Given the description of an element on the screen output the (x, y) to click on. 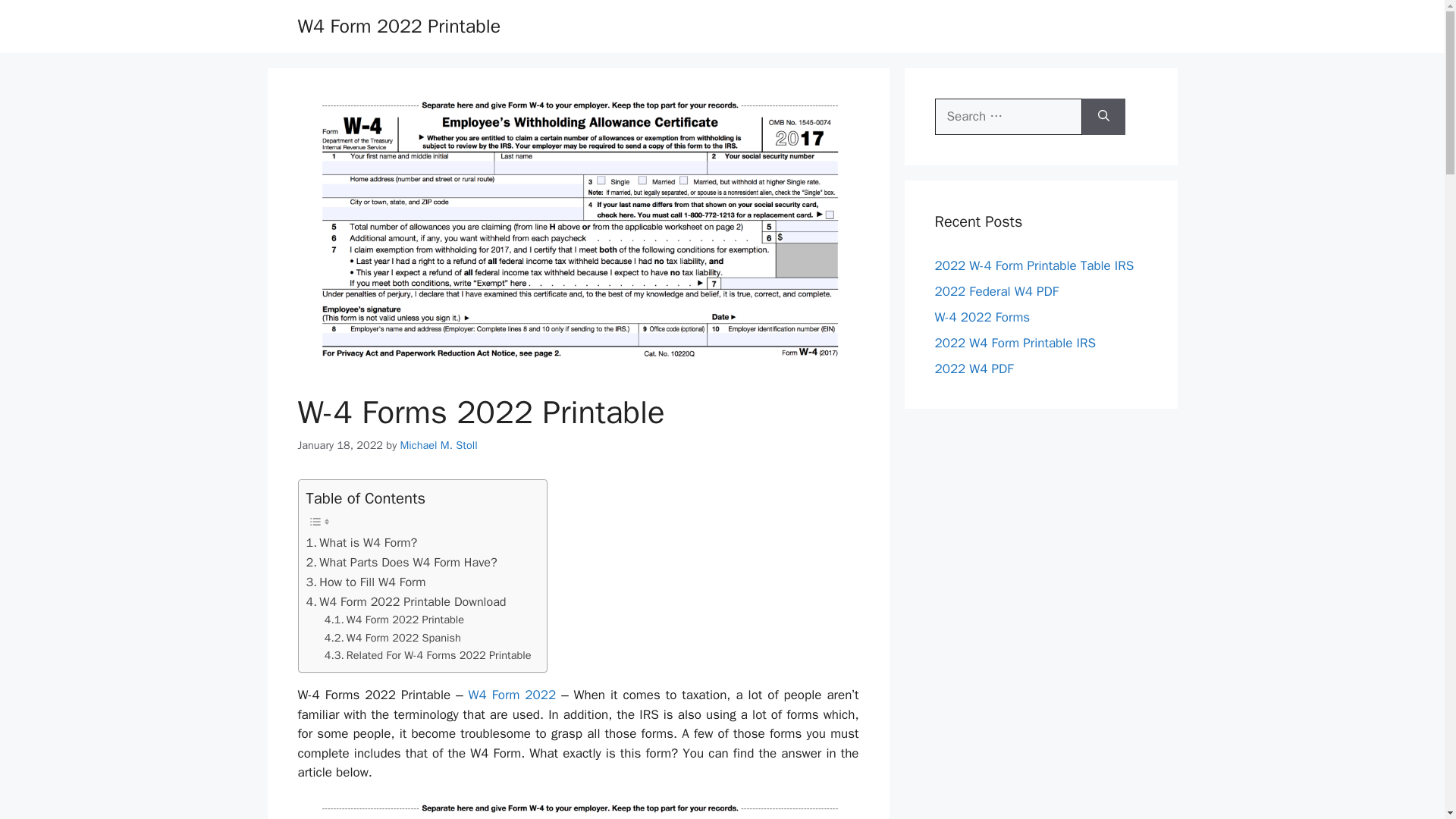
Michael M. Stoll (438, 445)
What is W4 Form? (361, 542)
W4 Form 2022 Spanish (392, 638)
W4 Form 2022 Printable Download (405, 601)
W4 Form 2022 Spanish (392, 638)
What is W4 Form? (361, 542)
W4 Form 2022 Printable (398, 25)
W4 Form 2022 Printable (394, 619)
2022 W-4 Form Printable Table IRS (1034, 265)
How to Fill W4 Form (365, 582)
W-4 2022 Forms (981, 317)
2022 W4 Form Printable IRS (1015, 342)
Related For W-4 Forms 2022 Printable (427, 655)
2022 W4 PDF (973, 368)
